Given the description of an element on the screen output the (x, y) to click on. 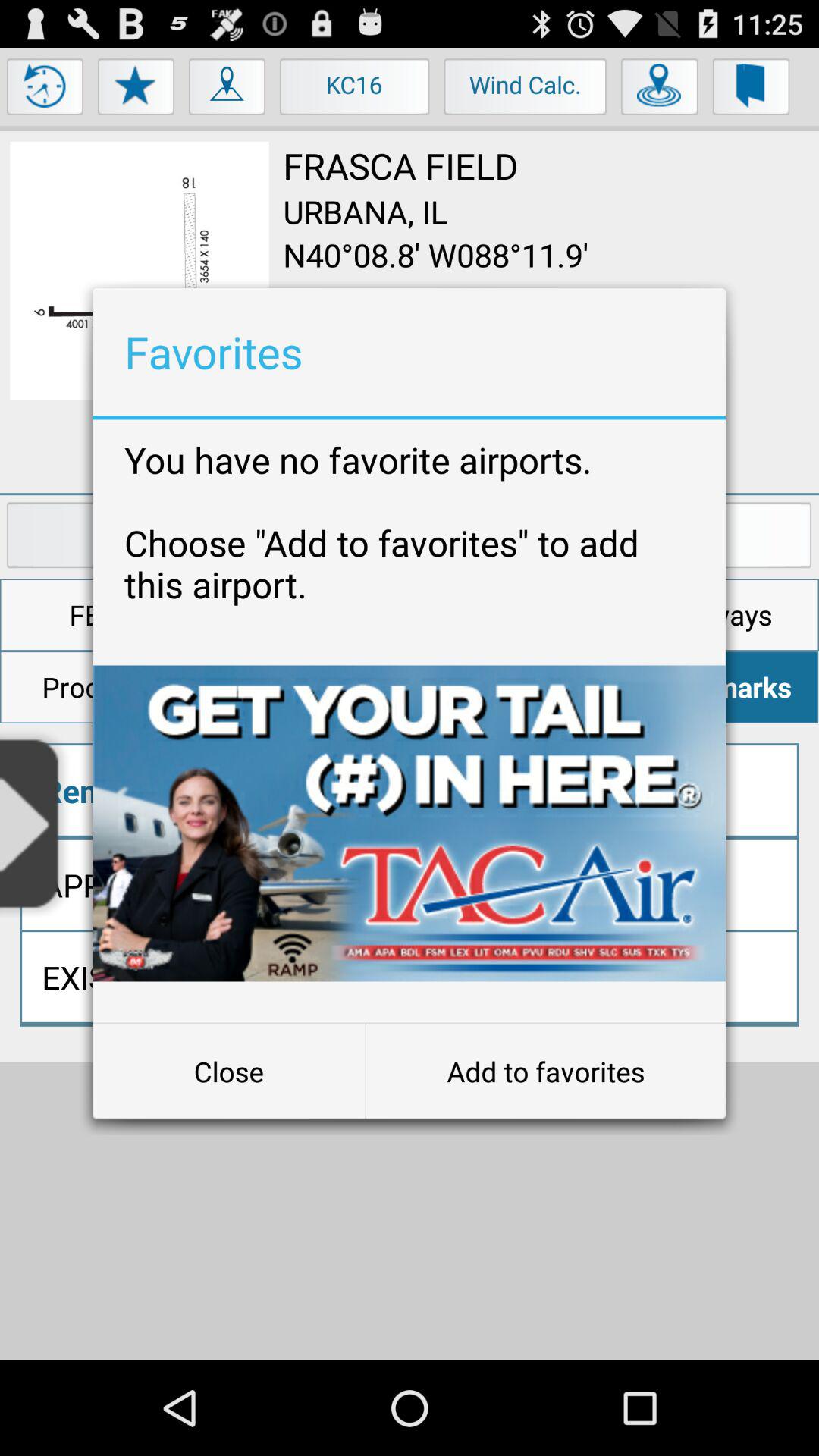
press icon to the left of the add to favorites (228, 1071)
